Given the description of an element on the screen output the (x, y) to click on. 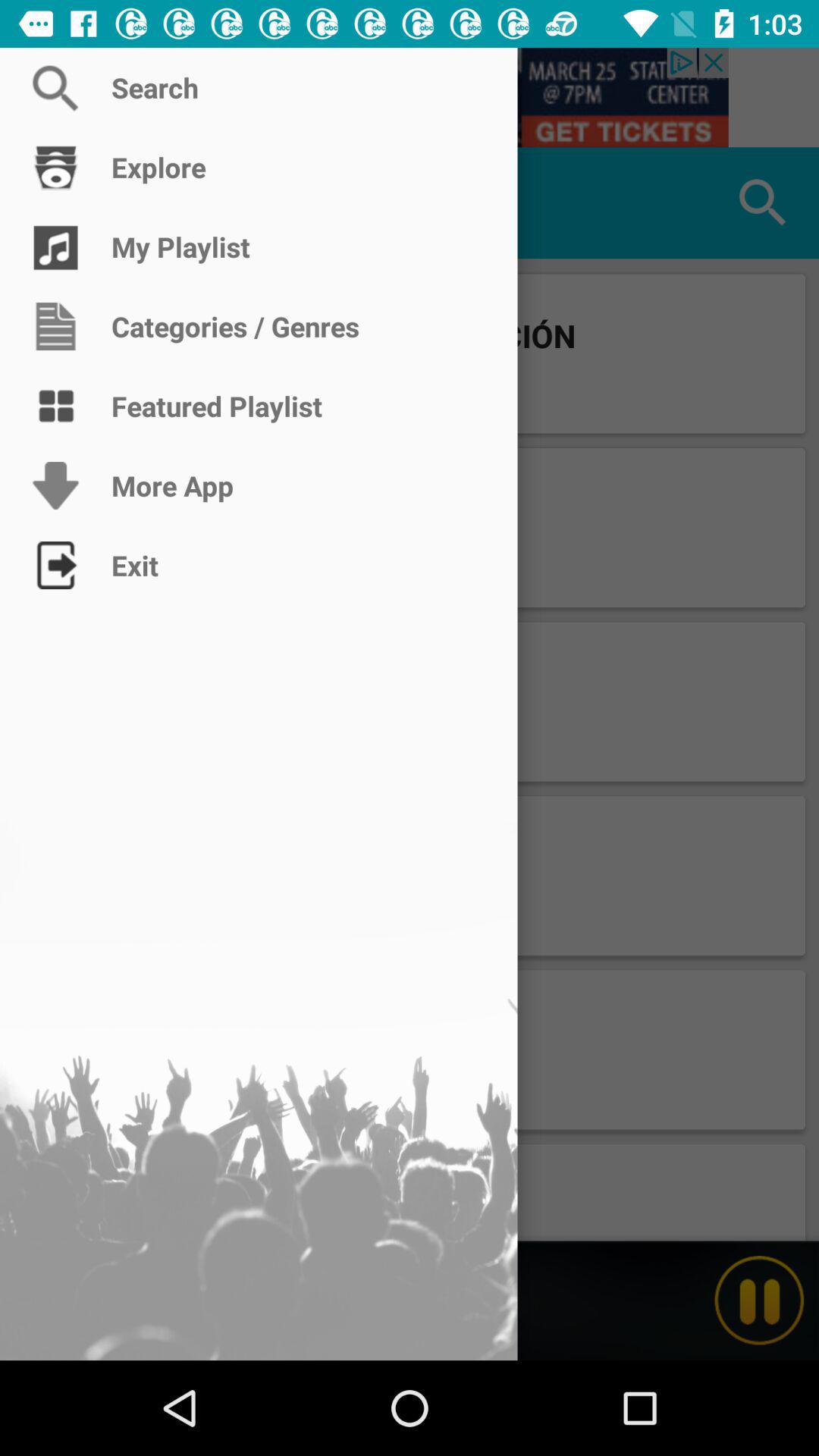
pause playback (759, 1300)
